Given the description of an element on the screen output the (x, y) to click on. 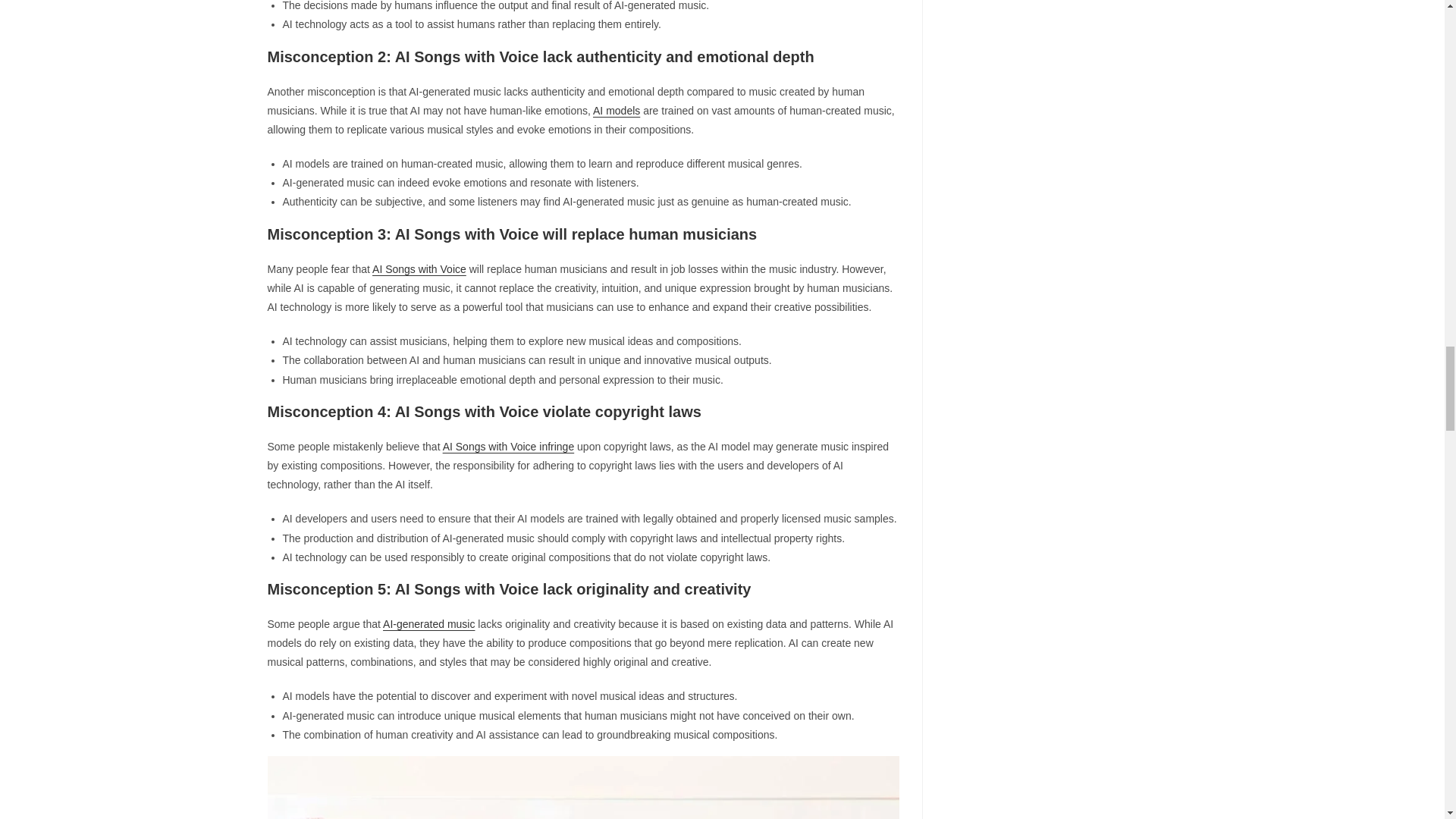
AI Songs with Voice (418, 268)
AI Songs with Voice (582, 787)
AI-generated music (428, 623)
AI models (616, 110)
AI Songs with Voice infringe (508, 446)
